Given the description of an element on the screen output the (x, y) to click on. 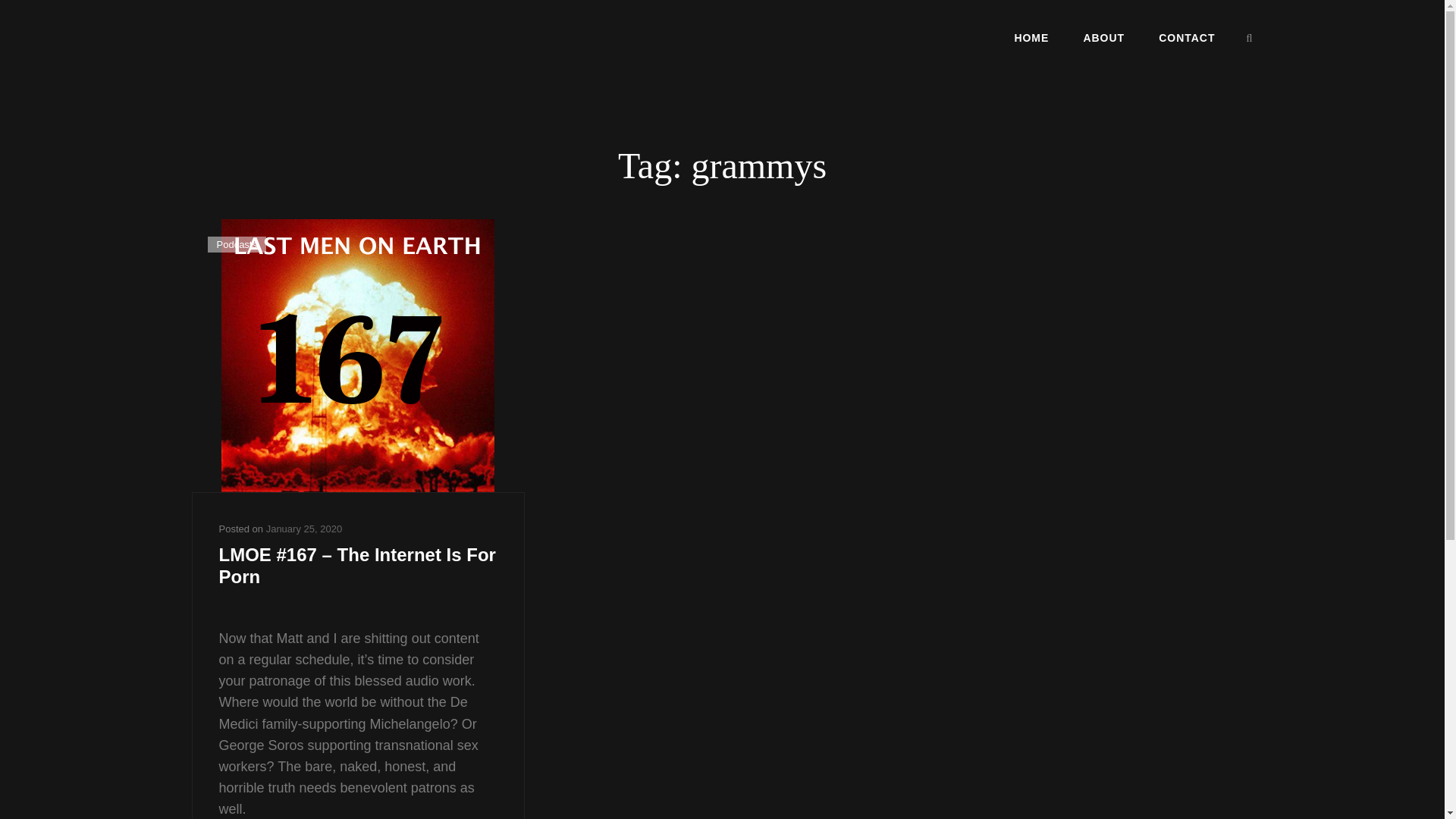
HOME (1031, 37)
January 25, 2020 (304, 528)
Podcasts (237, 244)
CONTACT (1186, 37)
SEARCH (1249, 37)
ABOUT (1103, 37)
